Given the description of an element on the screen output the (x, y) to click on. 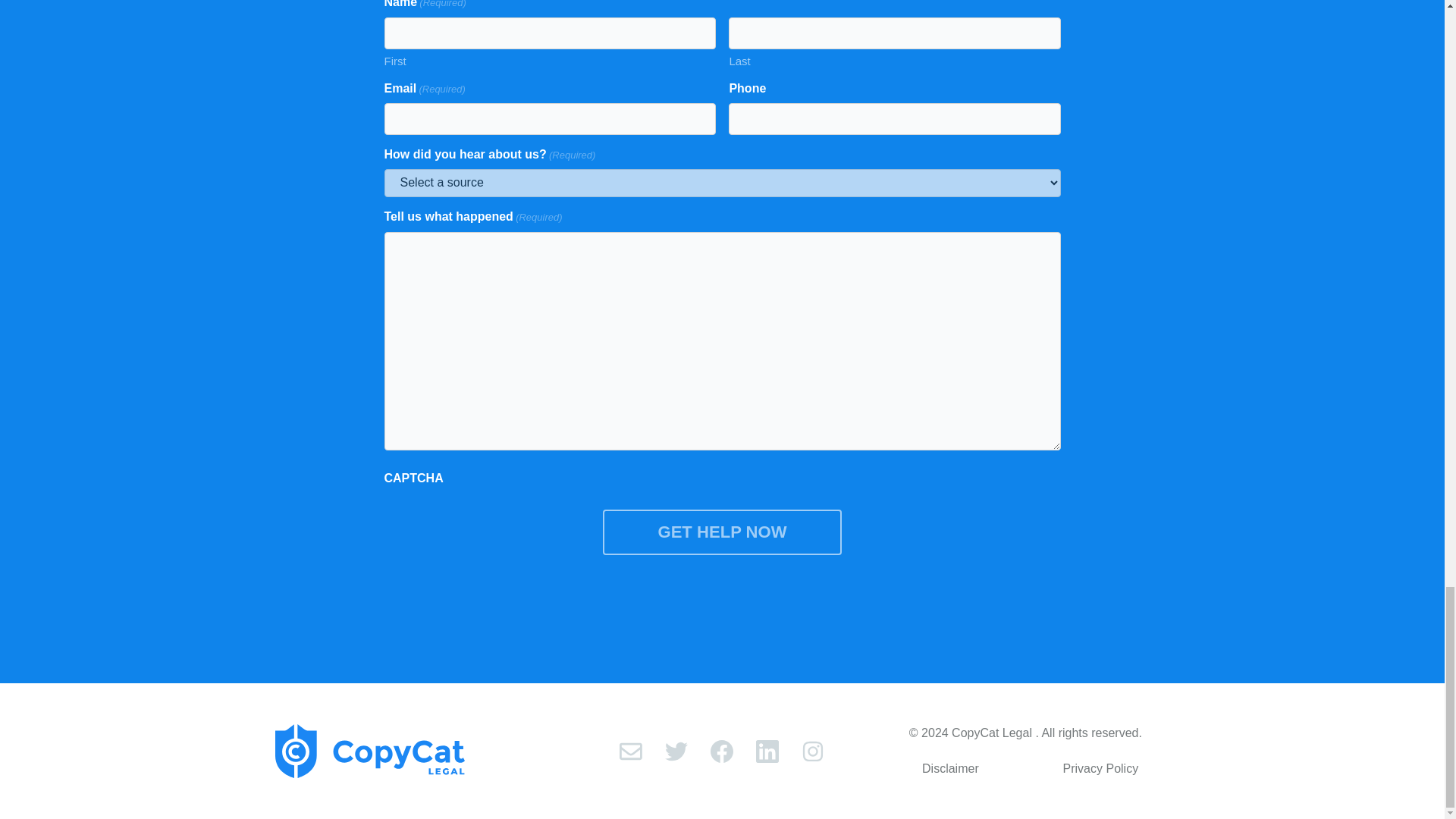
Get Help Now (721, 532)
